Given the description of an element on the screen output the (x, y) to click on. 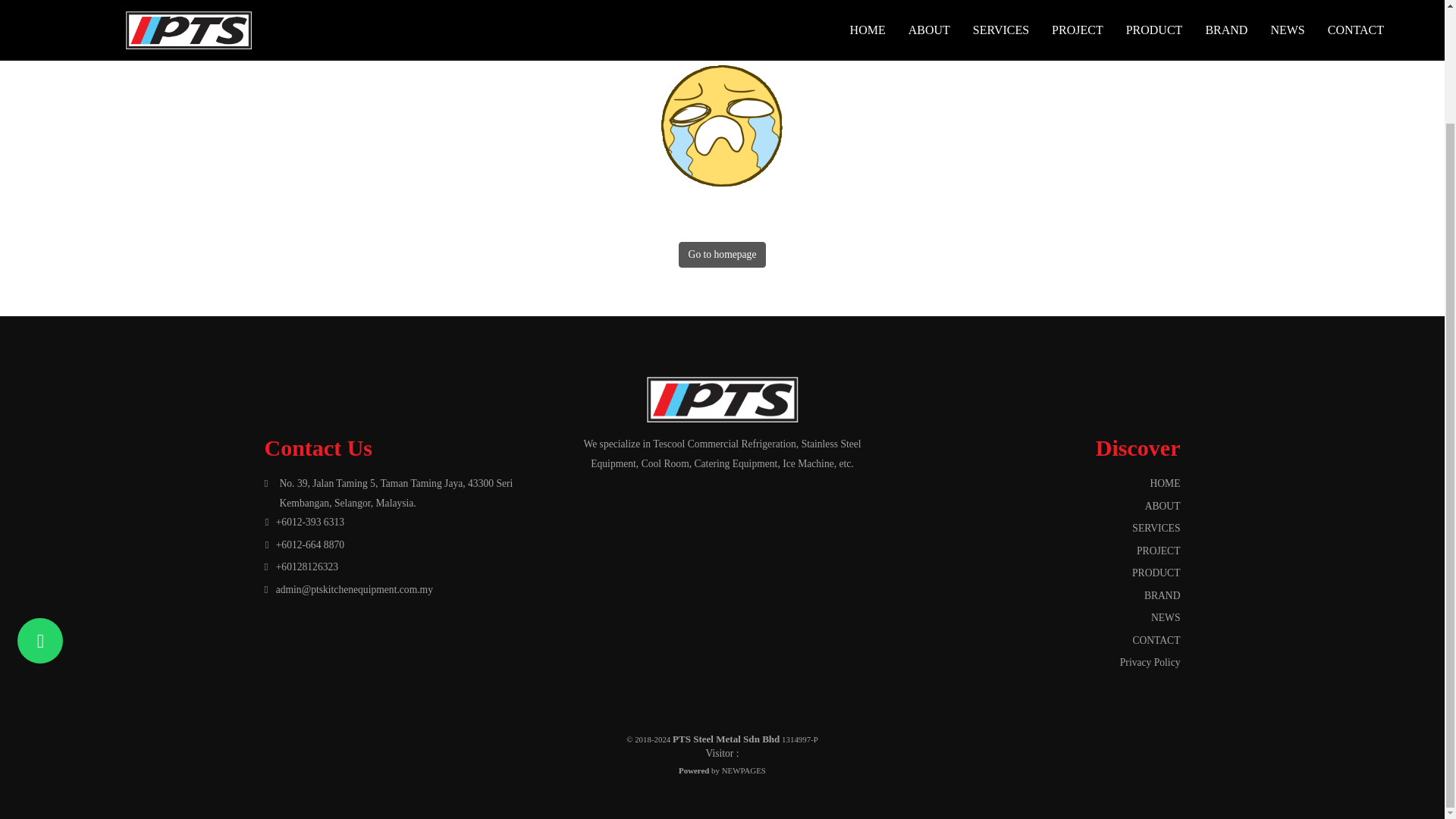
PRODUCT (1035, 572)
NEWPAGES (743, 769)
ABOUT (1035, 505)
CONTACT (1035, 640)
Go to homepage (722, 254)
PROJECT (1035, 550)
Privacy Policy (1035, 661)
HOME (1035, 483)
NEWS (1035, 617)
BRAND (1035, 595)
